Given the description of an element on the screen output the (x, y) to click on. 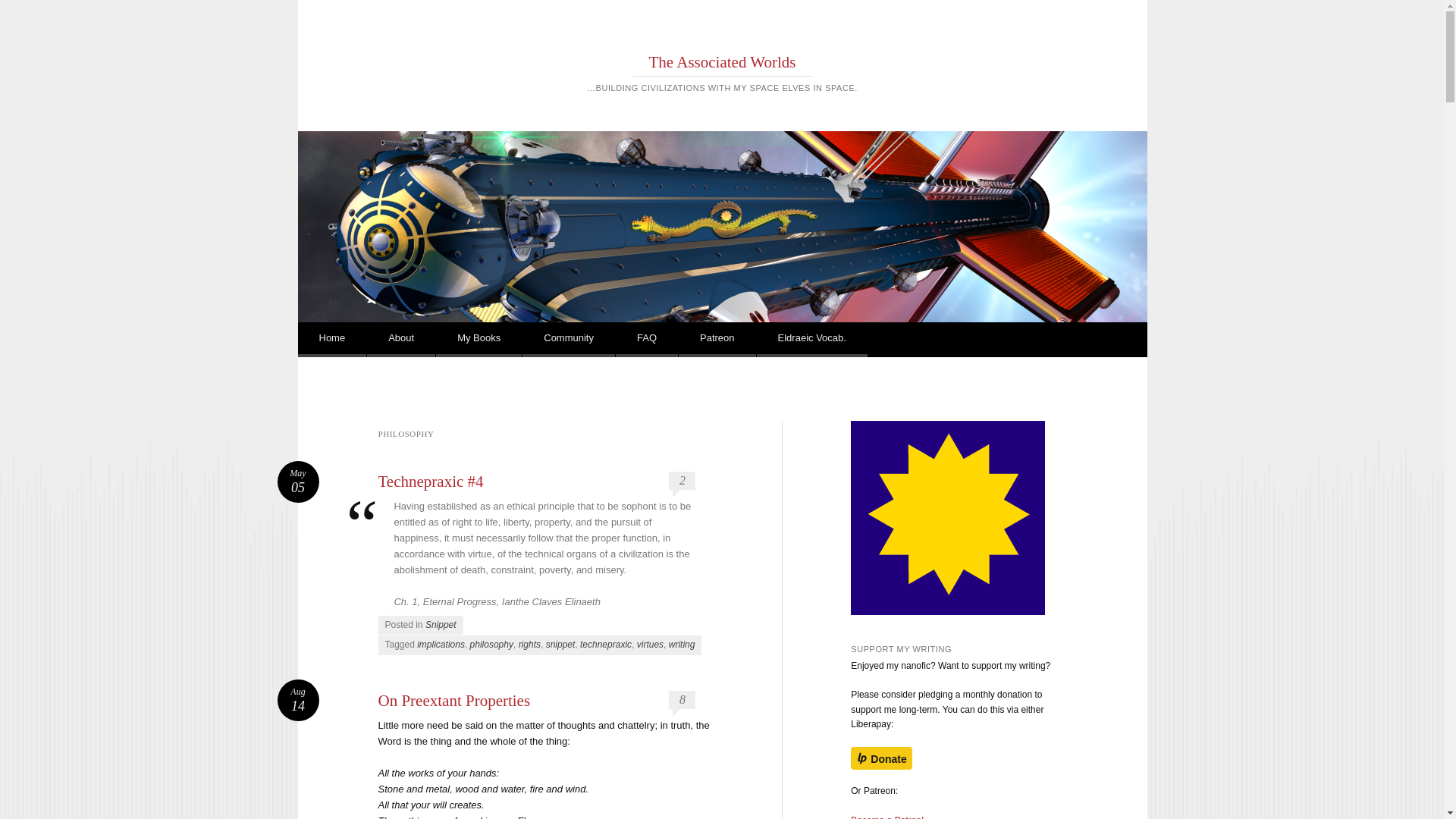
My Books (478, 339)
Home (331, 339)
On Preextant Properties (453, 700)
Snippet (441, 624)
technepraxic (605, 644)
The Associated Worlds (722, 62)
philosophy (491, 644)
Community (568, 339)
The Associated Worlds (722, 62)
Permalink to On Preextant Properties (298, 700)
